Given the description of an element on the screen output the (x, y) to click on. 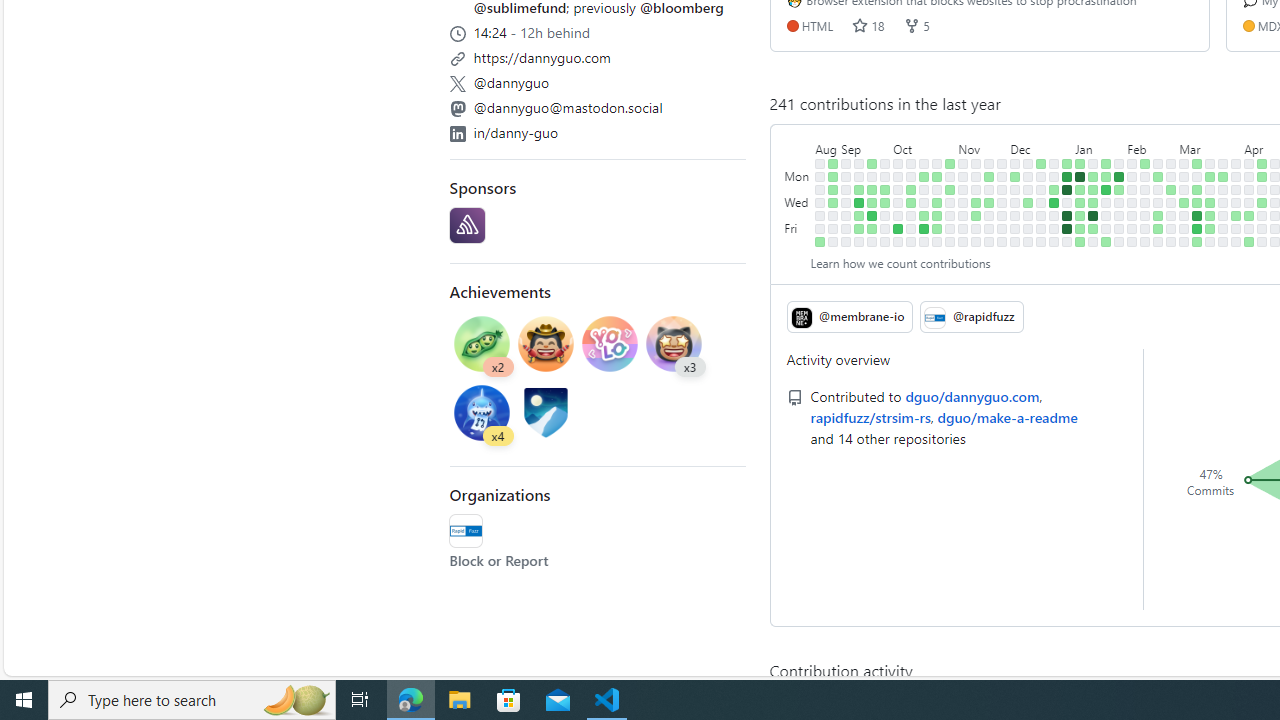
Achievement: YOLO (609, 343)
No contributions on April 2nd. (1236, 189)
No contributions on February 25th. (1171, 163)
No contributions on January 28th. (1119, 163)
No contributions on September 30th. (885, 241)
No contributions on December 21st. (1041, 215)
1 contribution on January 21st. (1106, 163)
1 contribution on December 17th. (1041, 163)
1 contribution on October 19th. (924, 215)
No contributions on September 9th. (846, 241)
No contributions on April 19th. (1262, 228)
No contributions on February 10th. (1131, 241)
1 contribution on October 11th. (911, 202)
No contributions on April 6th. (1236, 241)
 @rapidfuzz (972, 316)
